Given the description of an element on the screen output the (x, y) to click on. 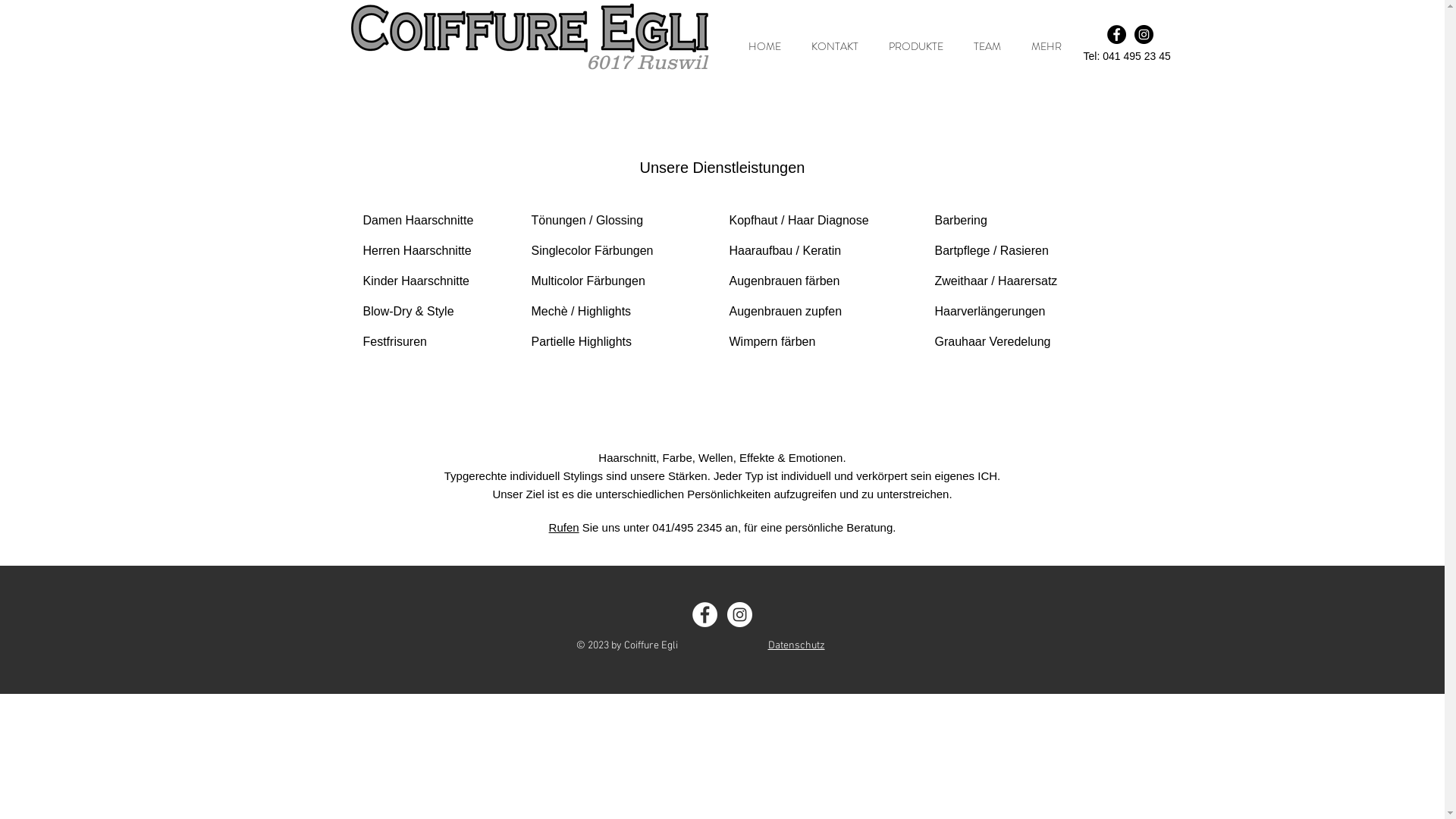
Datenschutz Element type: text (795, 644)
HOME Element type: text (760, 46)
TEAM Element type: text (982, 46)
Tel: 041 495 23 45 Element type: text (1126, 56)
KONTAKT Element type: text (830, 46)
PRODUKTE Element type: text (911, 46)
Rufen Element type: text (564, 526)
Coiffure Egli 6017 Ruswil Element type: hover (529, 28)
